Given the description of an element on the screen output the (x, y) to click on. 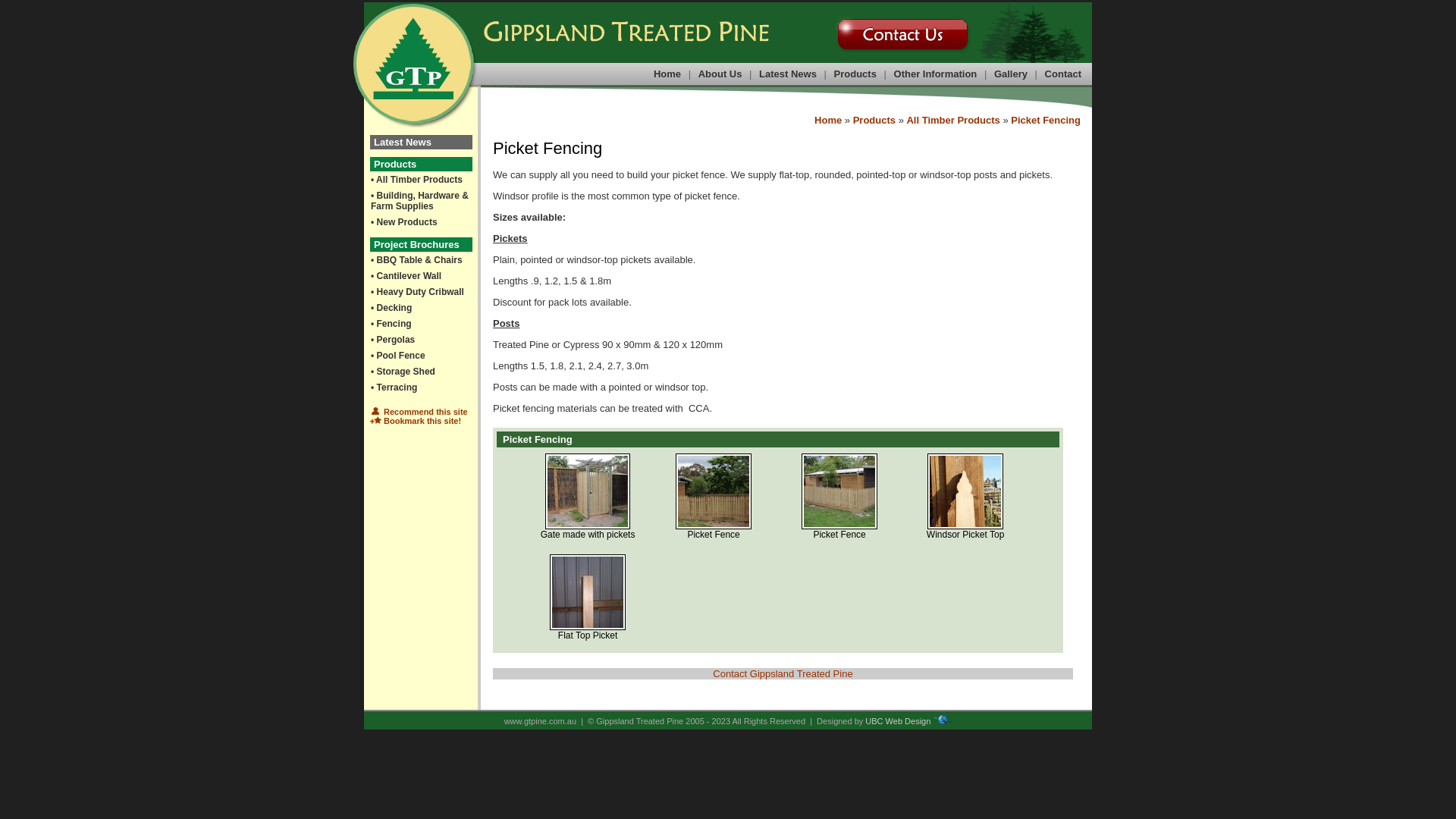
Other Information Element type: text (935, 73)
Picket Fence Element type: hover (839, 491)
Latest News Element type: text (421, 141)
Flat Top Picket Element type: hover (587, 592)
Recommend this site Element type: text (418, 411)
Gate made with pickets Element type: text (587, 513)
Flat Top Picket Element type: text (587, 613)
UBC Web Design Element type: text (897, 720)
Picket Fence Element type: text (839, 513)
Products Element type: text (421, 163)
Project Brochures Element type: text (421, 244)
Picket Fencing Element type: text (1045, 119)
Picket Fence Element type: hover (713, 491)
About Us Element type: text (719, 73)
Home Element type: text (667, 73)
Home Element type: text (827, 119)
Picket Fence Element type: text (713, 513)
Gallery Element type: text (1010, 73)
Bookmark this site! Element type: text (415, 420)
Products Element type: text (874, 119)
Products Element type: text (855, 73)
Windsor Picket Top Element type: text (965, 513)
Contact Gippsland Treated Pine Element type: text (782, 673)
Gate made with pickets Element type: hover (587, 491)
Contact Element type: text (1062, 73)
Latest News Element type: text (787, 73)
All Timber Products Element type: text (952, 119)
Windsor Picket Top Element type: hover (965, 491)
